Given the description of an element on the screen output the (x, y) to click on. 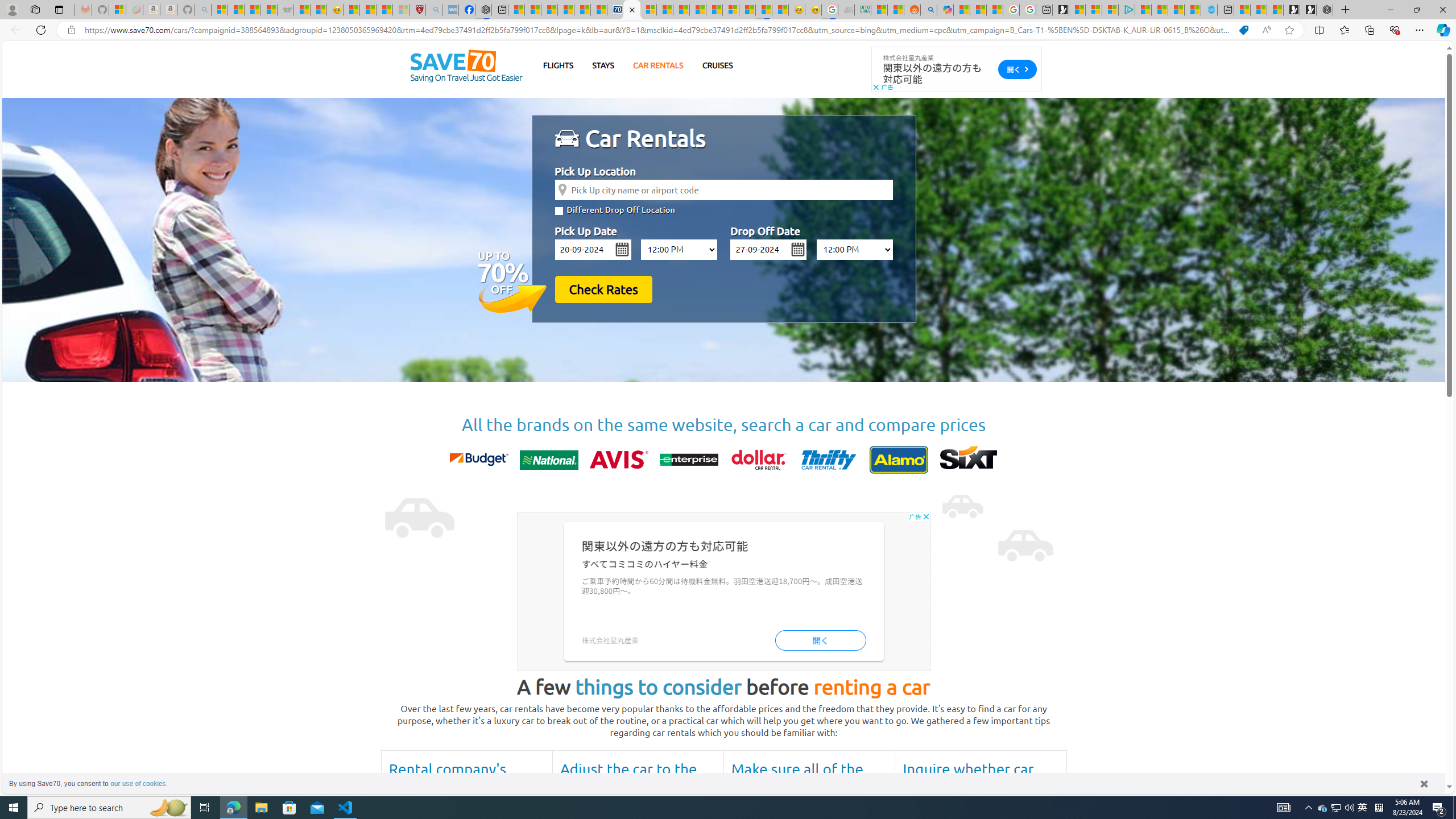
CAR RENTALS (657, 65)
12 Popular Science Lies that Must be Corrected - Sleeping (400, 9)
avis (618, 459)
Pick Up city name or airport code (723, 189)
